Given the description of an element on the screen output the (x, y) to click on. 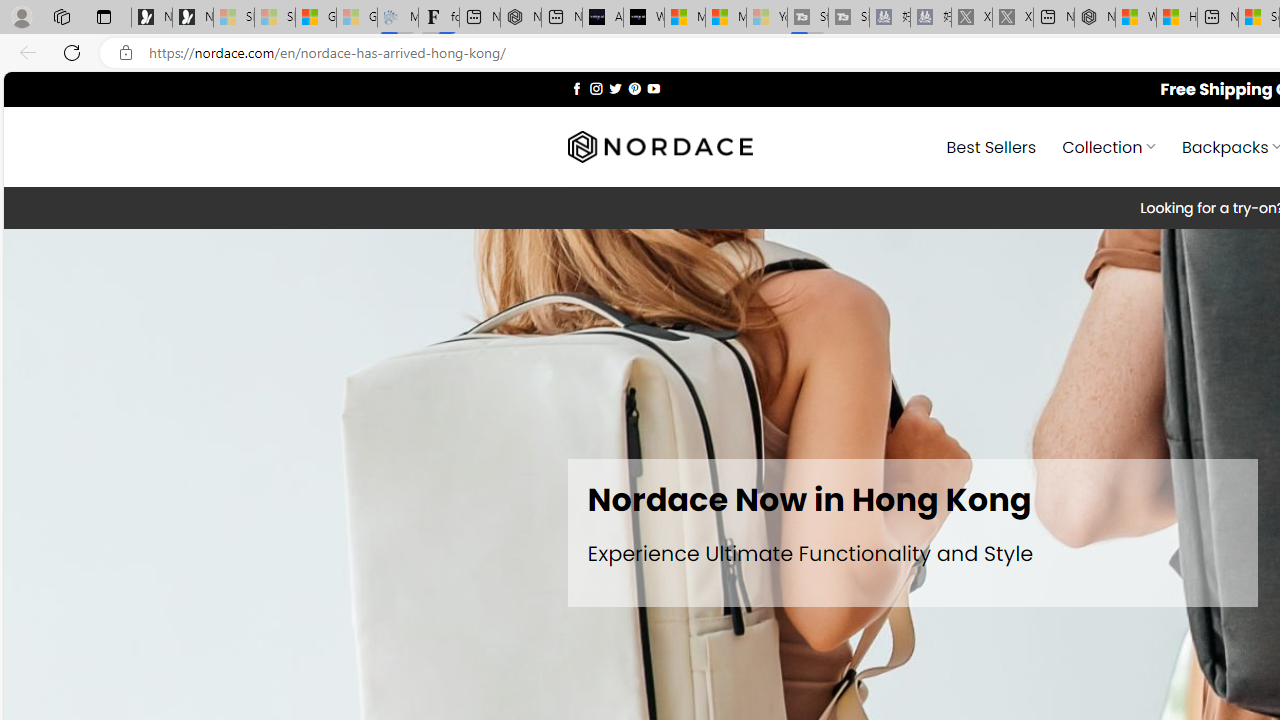
Follow on Pinterest (634, 88)
Follow on Twitter (615, 88)
Wildlife - MSN (1135, 17)
Follow on Instagram (596, 88)
Nordace - My Account (1094, 17)
Huge shark washes ashore at New York City beach | Watch (1176, 17)
Follow on Facebook (576, 88)
AI Voice Changer for PC and Mac - Voice.ai (602, 17)
Follow on YouTube (653, 88)
Newsletter Sign Up (192, 17)
